Given the description of an element on the screen output the (x, y) to click on. 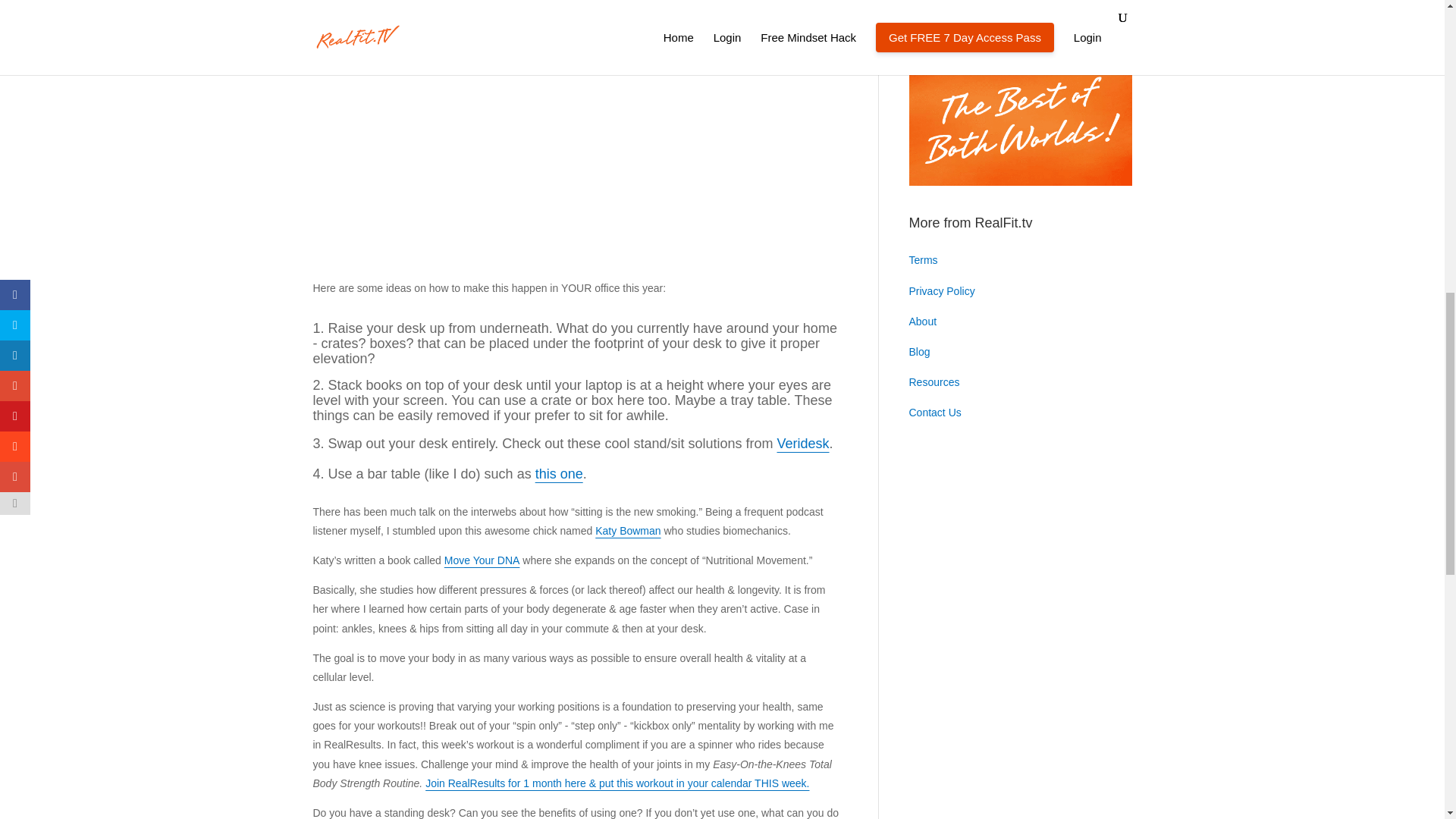
Privacy Policy (941, 291)
Move Your DNA (481, 560)
this one (559, 473)
Terms (922, 259)
Katy Bowman (628, 530)
Veridesk (802, 443)
